Given the description of an element on the screen output the (x, y) to click on. 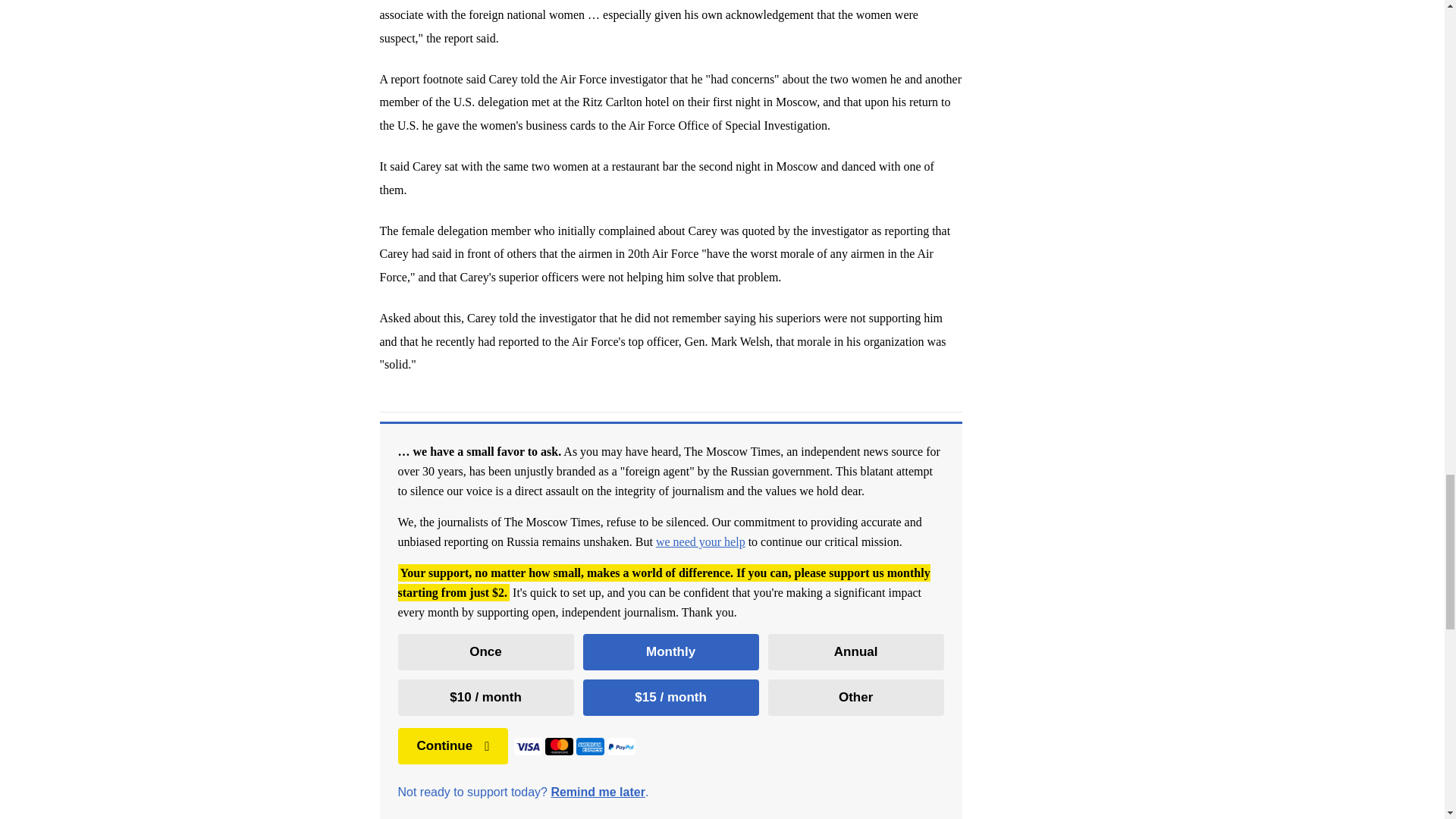
we need your help (700, 541)
